Given the description of an element on the screen output the (x, y) to click on. 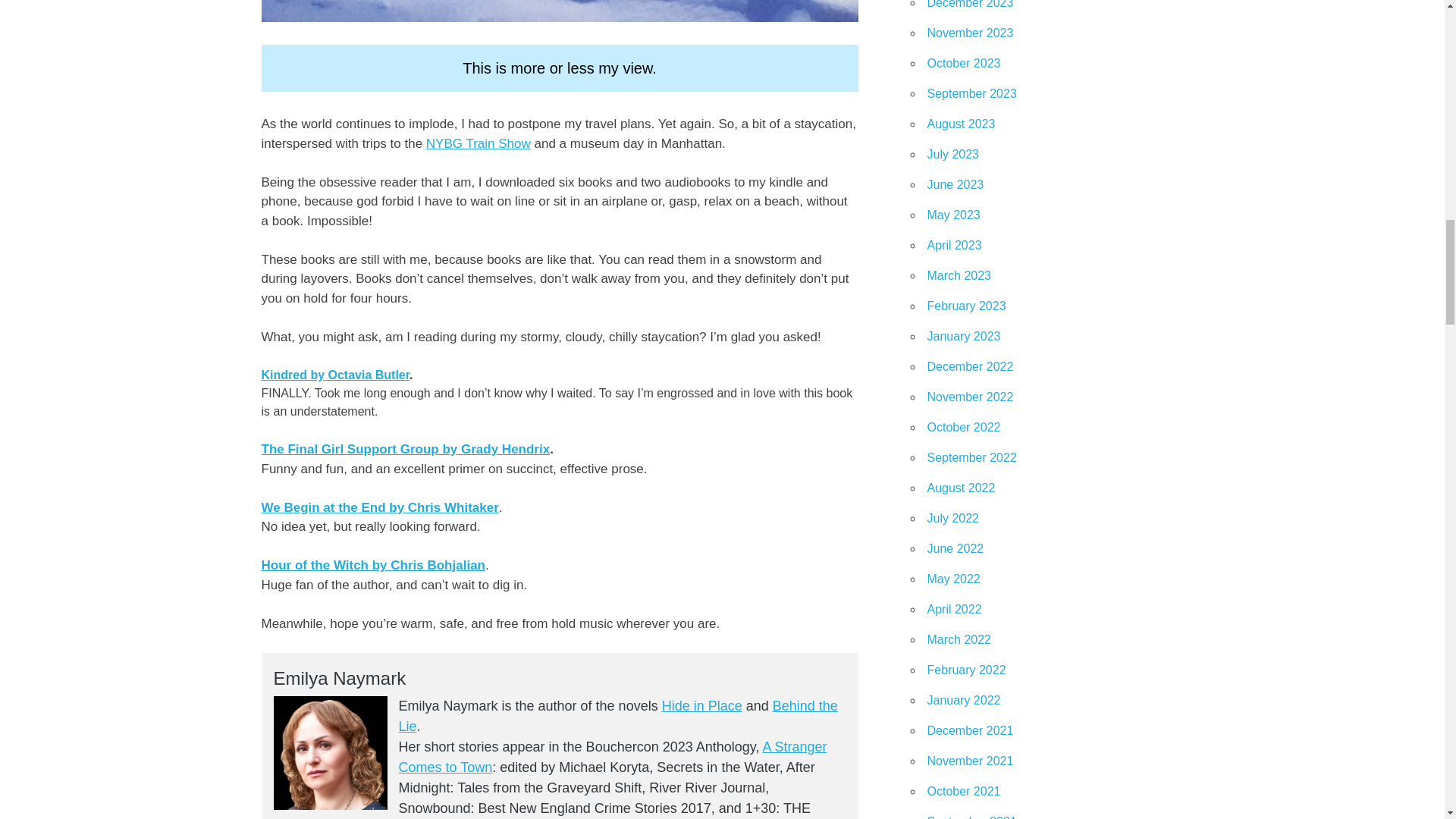
Hour of the Witch by Chris Bohjalian (372, 564)
A Stranger Comes to Town (612, 756)
l Girl Support Group by Grady Hendrix (432, 449)
Behind the Lie (618, 715)
NYBG Train Show (478, 143)
Hide in Place (702, 705)
We Begin at the End by Chris Whitaker (378, 507)
Kindred by Octavia Butler (334, 374)
The Fina (287, 449)
